Given the description of an element on the screen output the (x, y) to click on. 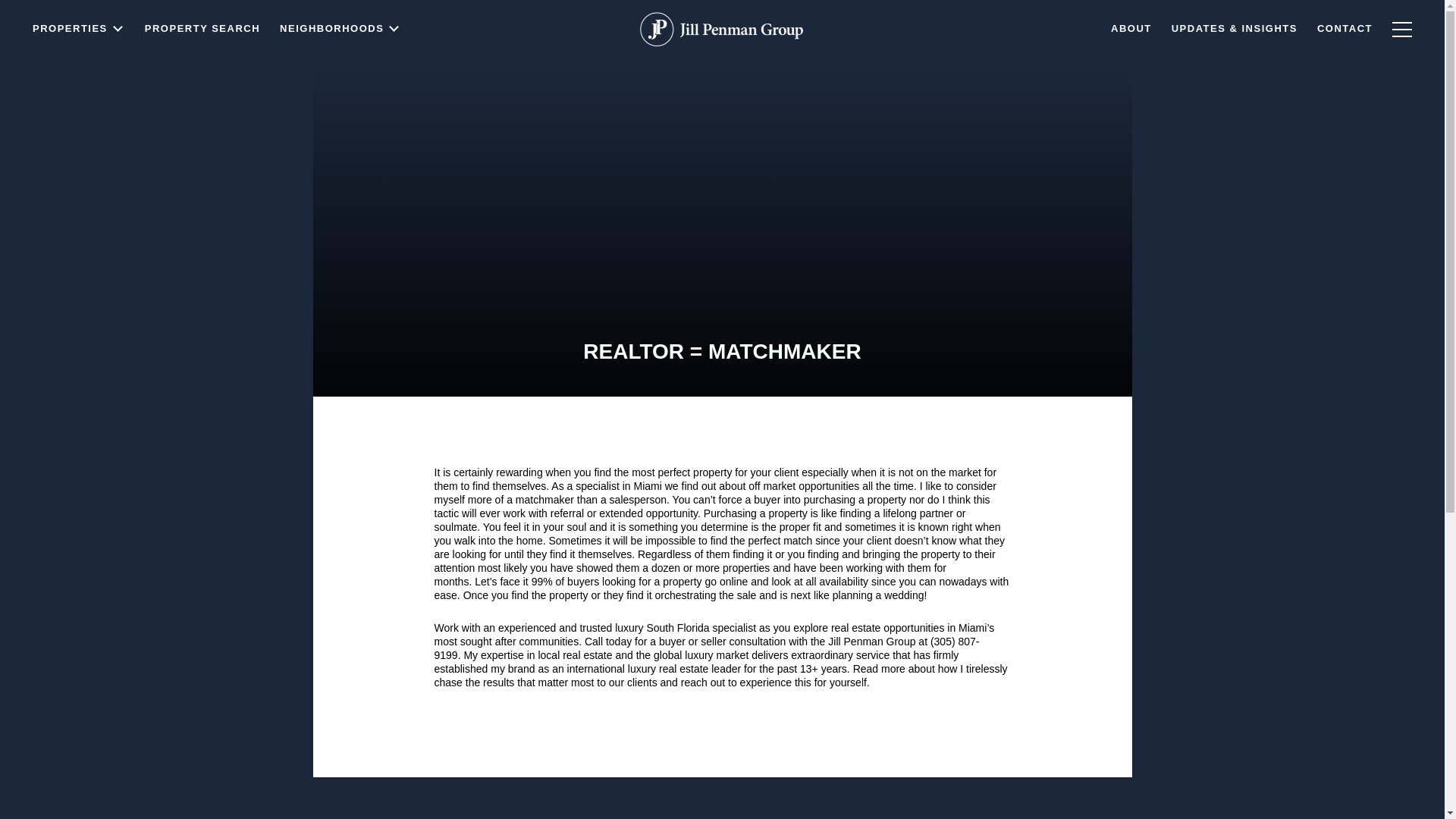
CONTACT (1344, 34)
NEIGHBORHOODS (339, 58)
PROPERTY SEARCH (202, 61)
PROPERTIES (79, 69)
results that matter most to our clients (570, 682)
ABOUT (1130, 36)
